Given the description of an element on the screen output the (x, y) to click on. 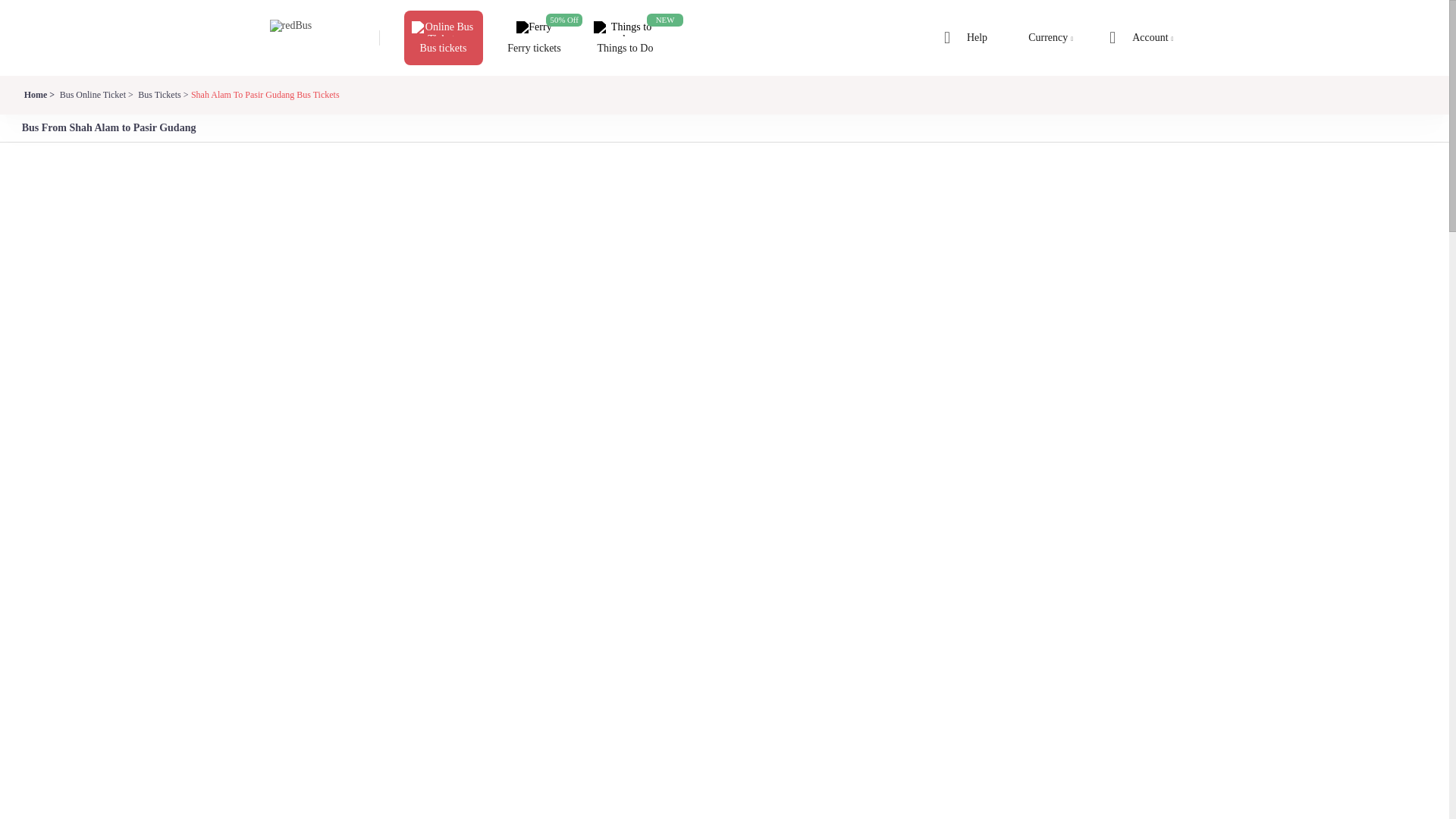
Bus Tickets (161, 94)
redBus (299, 37)
Online Ferry Booking (533, 28)
Things to do (624, 28)
Bus Online Ticket (95, 94)
Online Bus Tickets Booking (442, 28)
Home (38, 94)
